Given the description of an element on the screen output the (x, y) to click on. 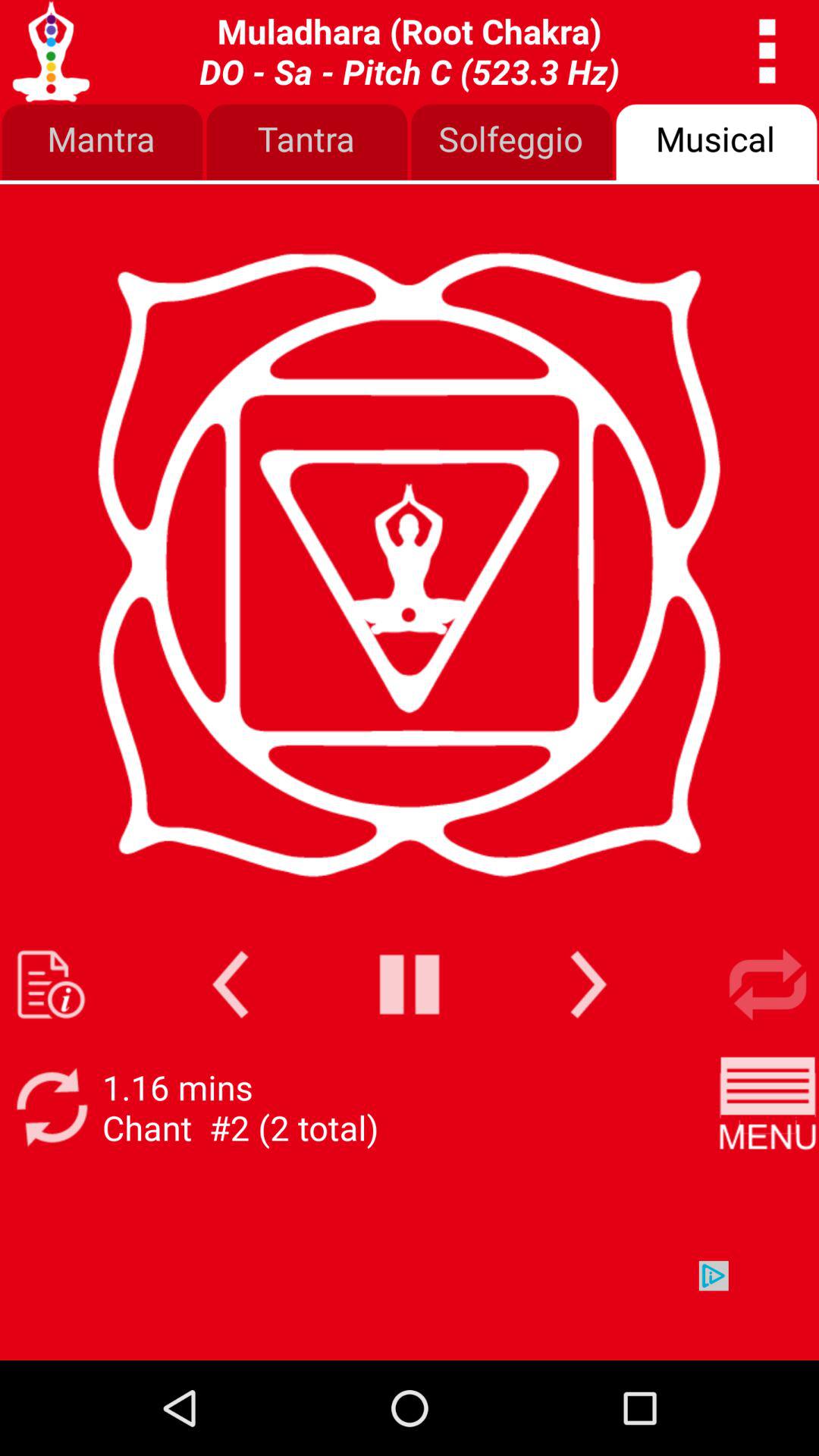
jump until the tantra icon (306, 143)
